Given the description of an element on the screen output the (x, y) to click on. 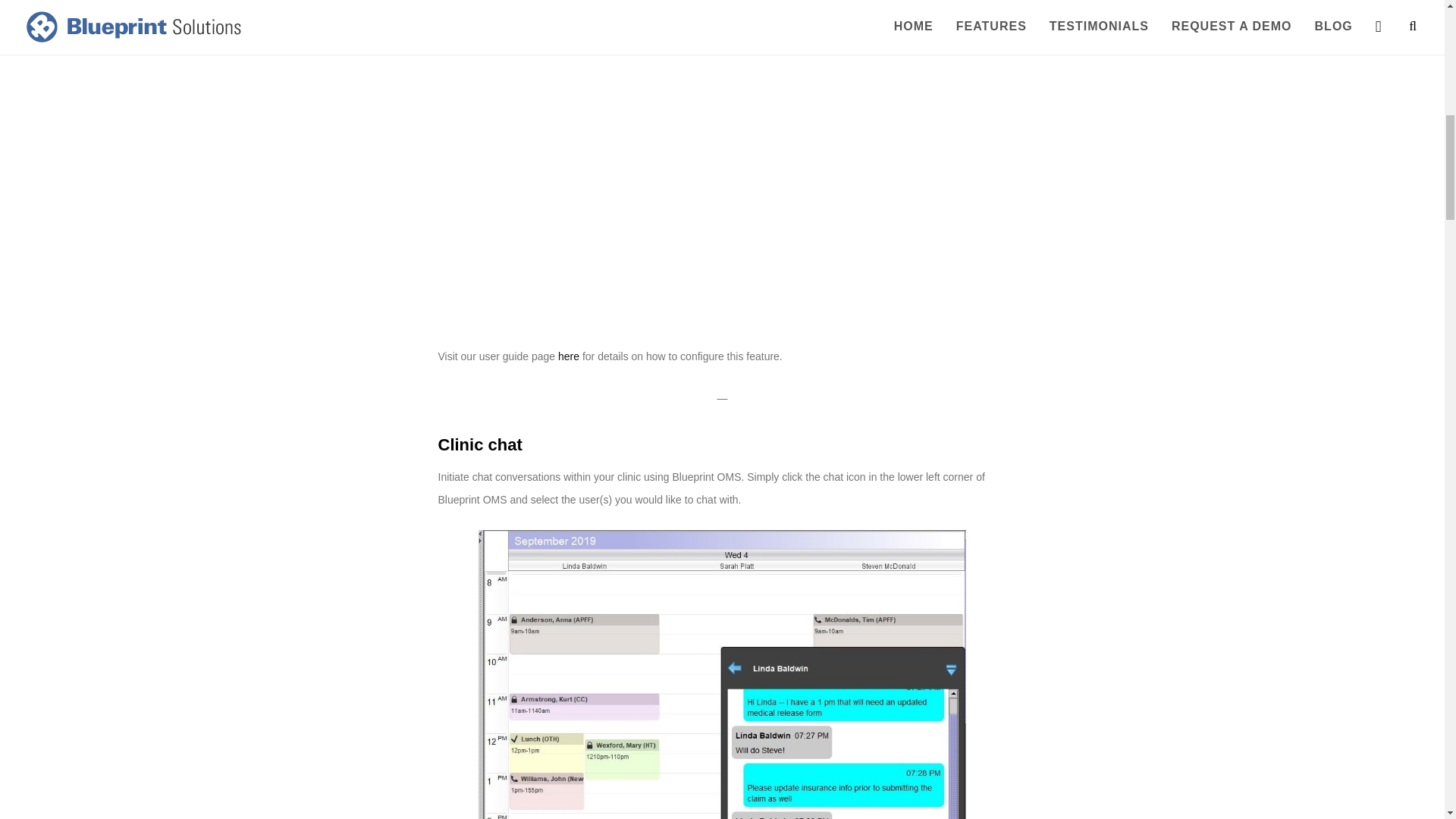
YouTube video player (650, 156)
